Given the description of an element on the screen output the (x, y) to click on. 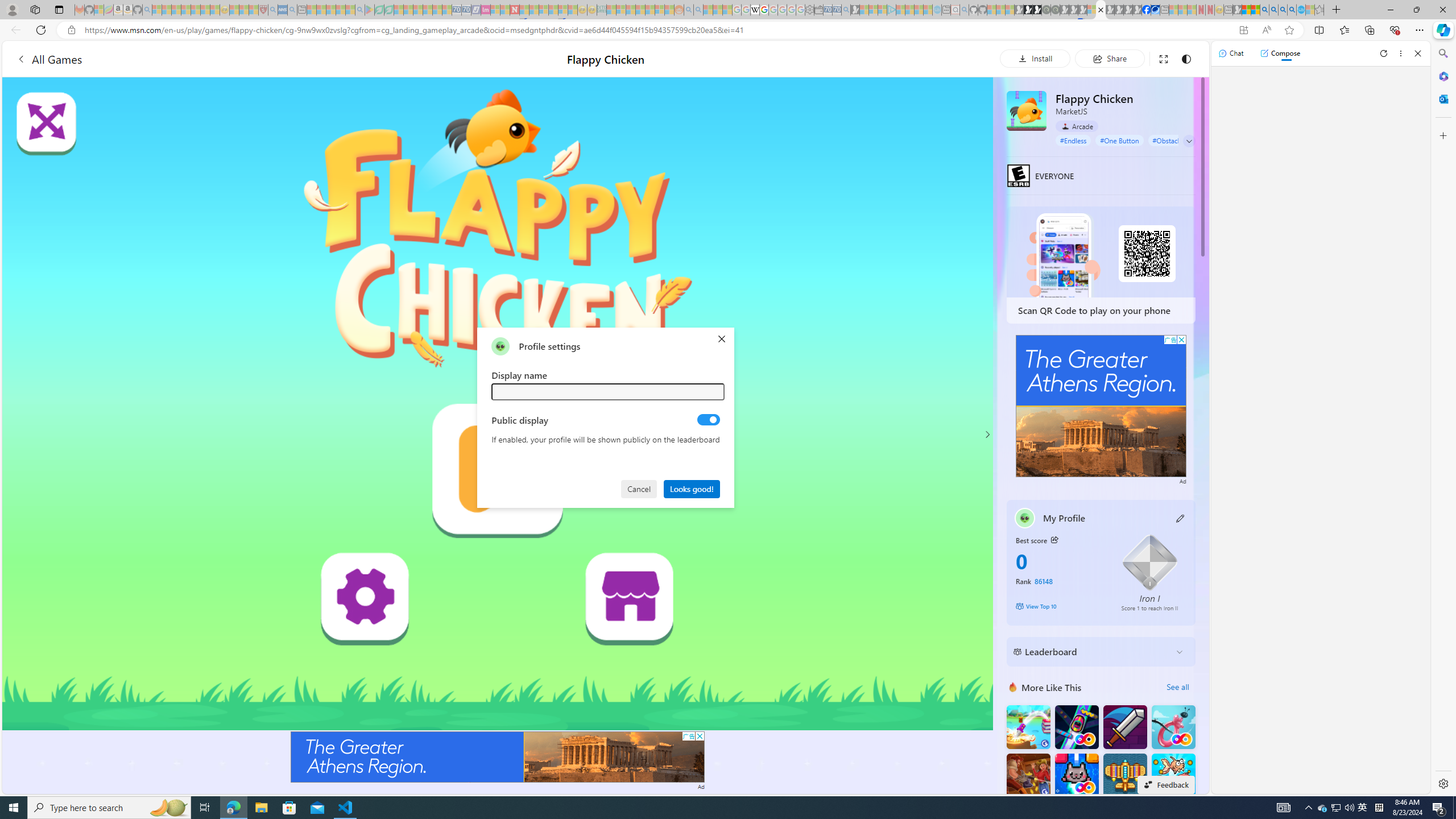
View Top 10 (1060, 605)
Compose (1279, 52)
Arcade (1076, 125)
Advertisement (1101, 405)
Sign in to your account - Sleeping (1090, 9)
#Endless (1073, 140)
